Given the description of an element on the screen output the (x, y) to click on. 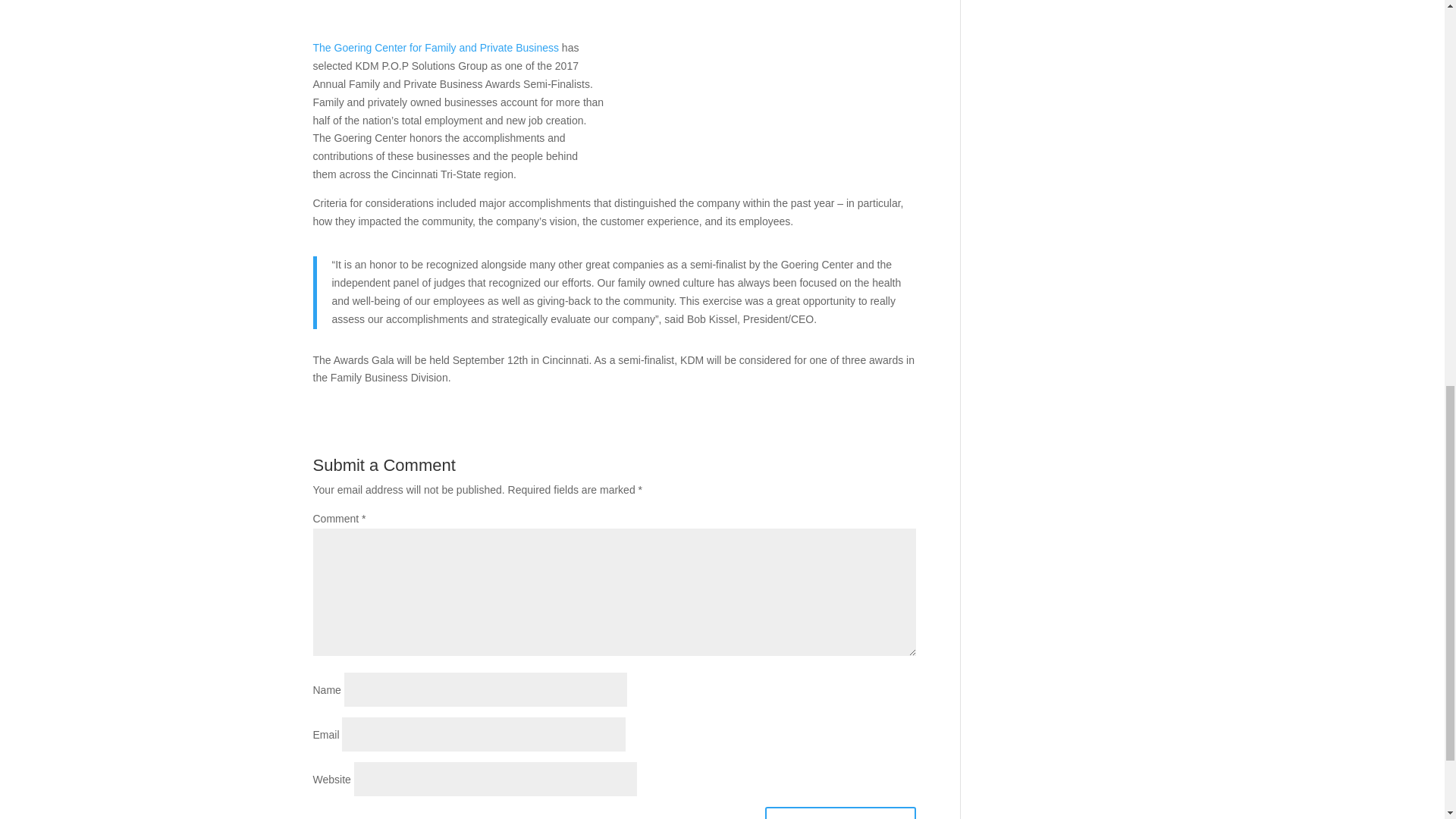
Submit Comment (840, 812)
